Given the description of an element on the screen output the (x, y) to click on. 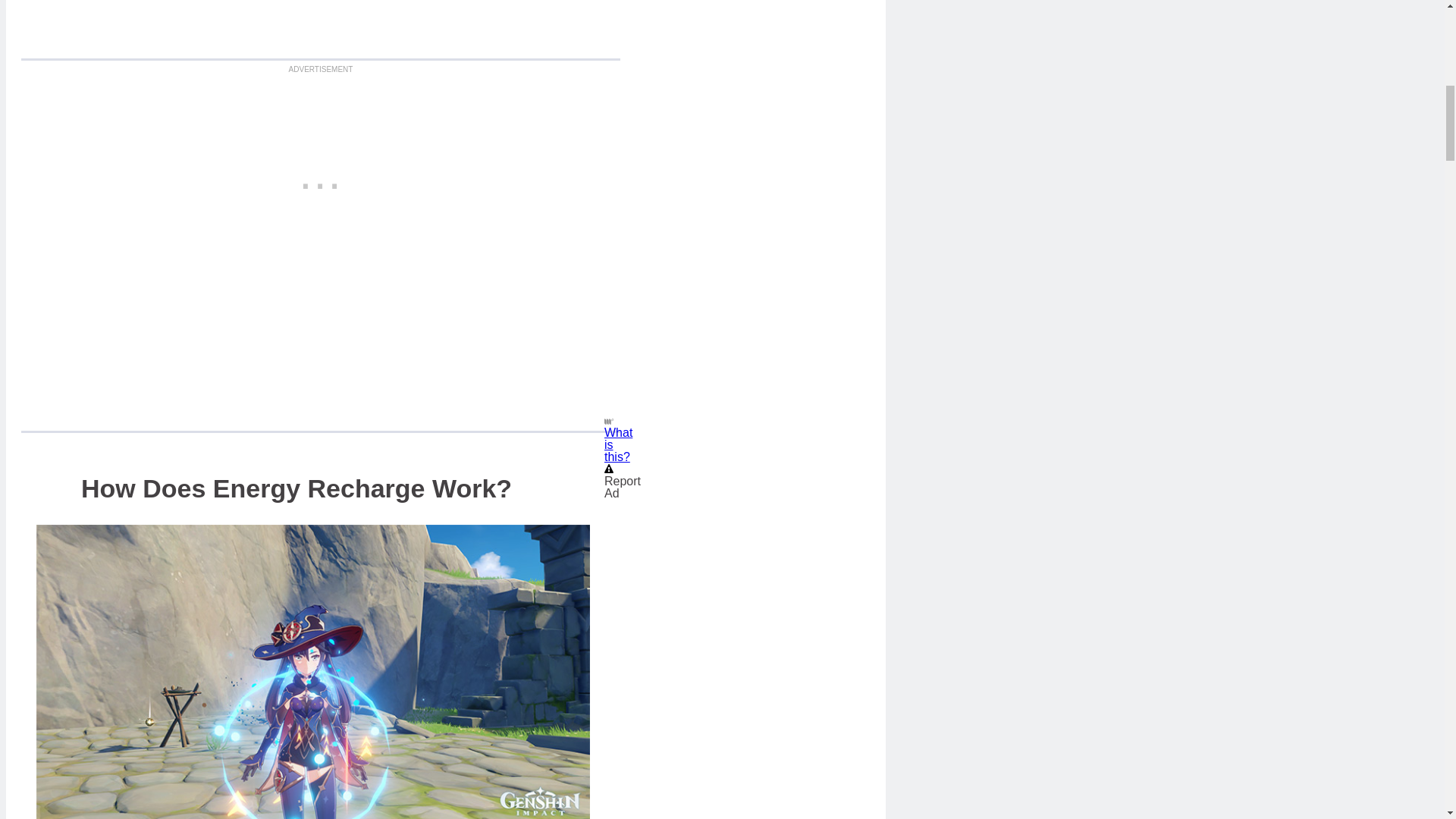
3rd party ad content (320, 182)
